Given the description of an element on the screen output the (x, y) to click on. 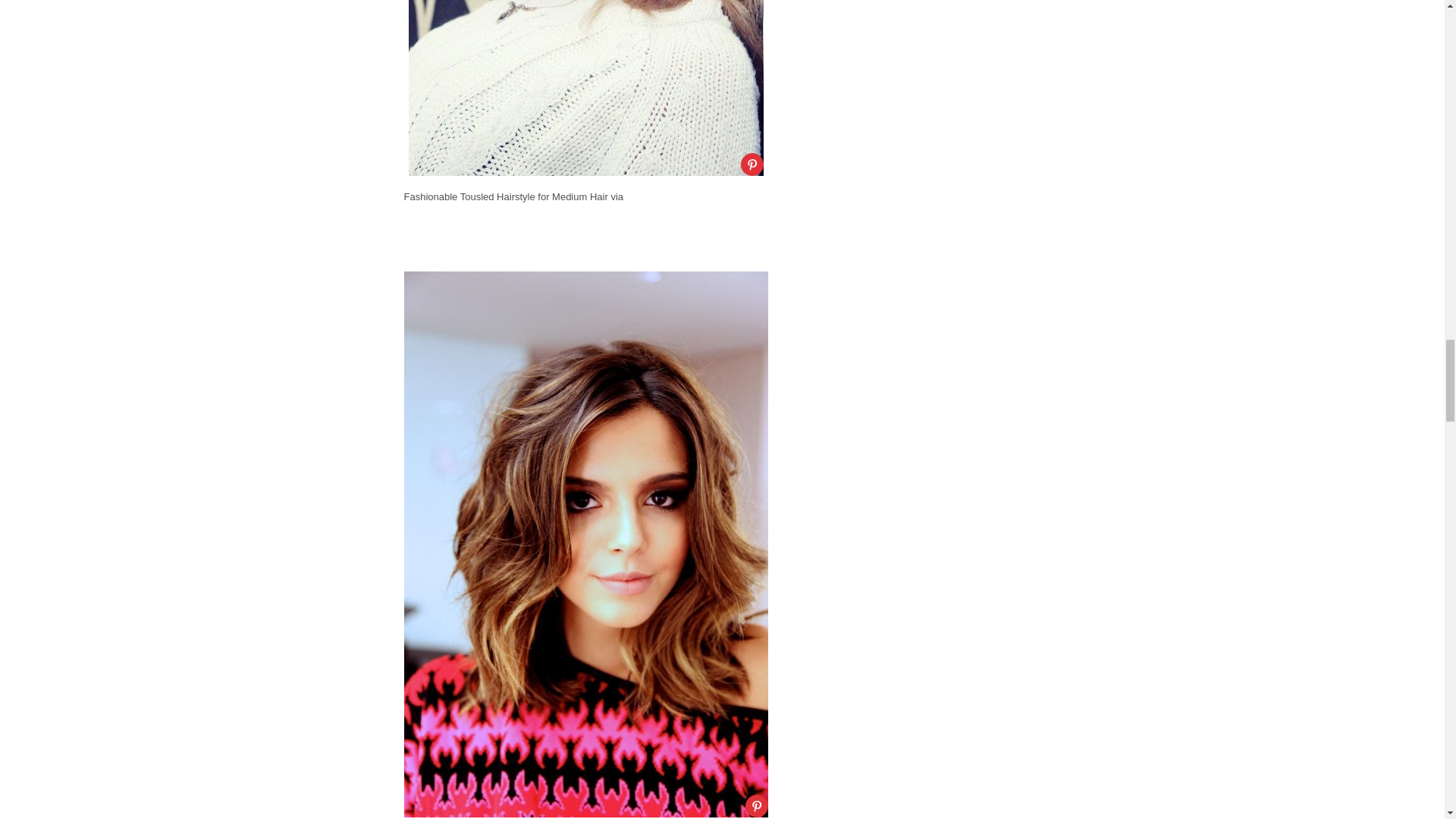
via (616, 196)
